Given the description of an element on the screen output the (x, y) to click on. 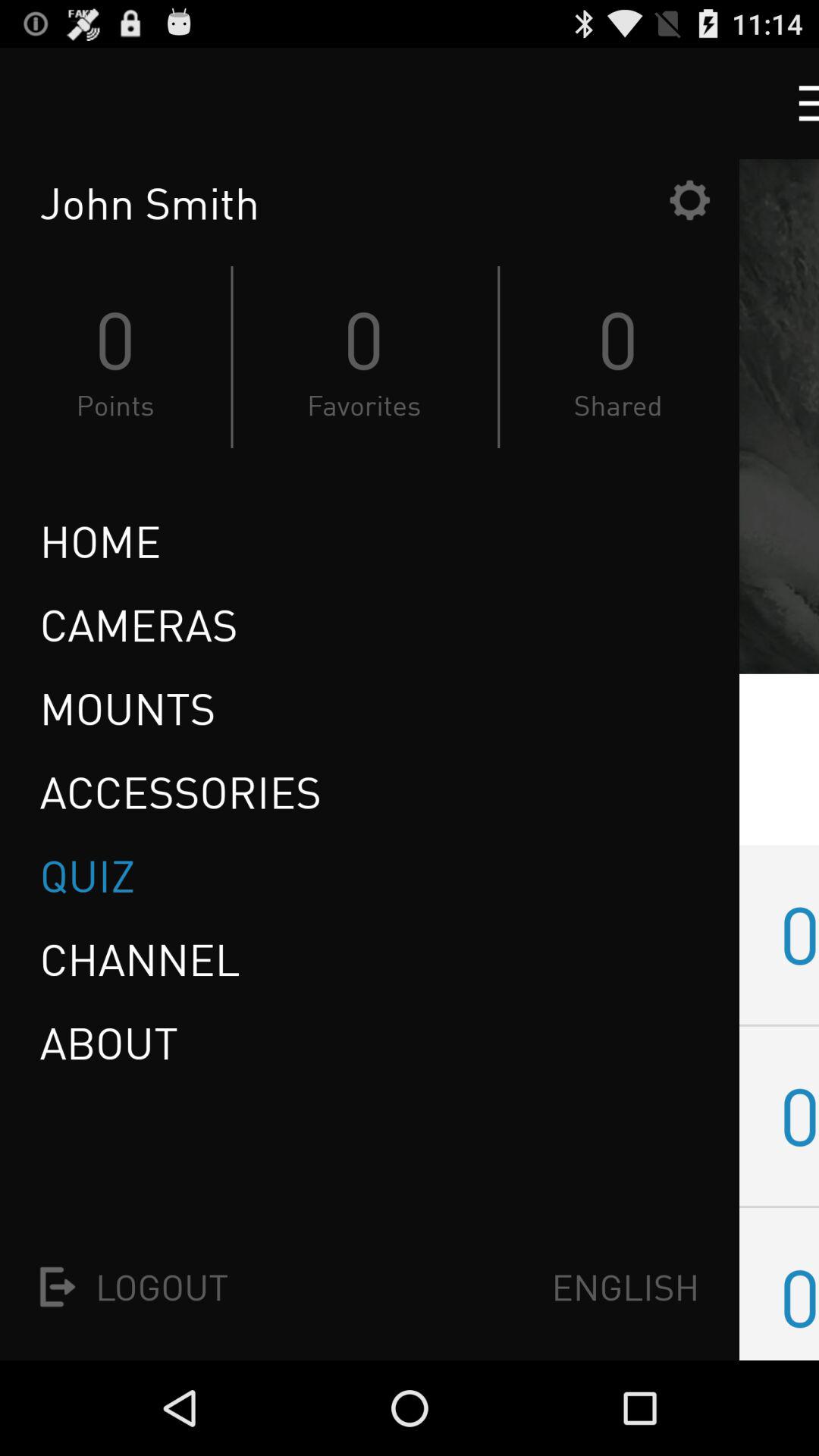
swipe to the cameras (138, 624)
